Given the description of an element on the screen output the (x, y) to click on. 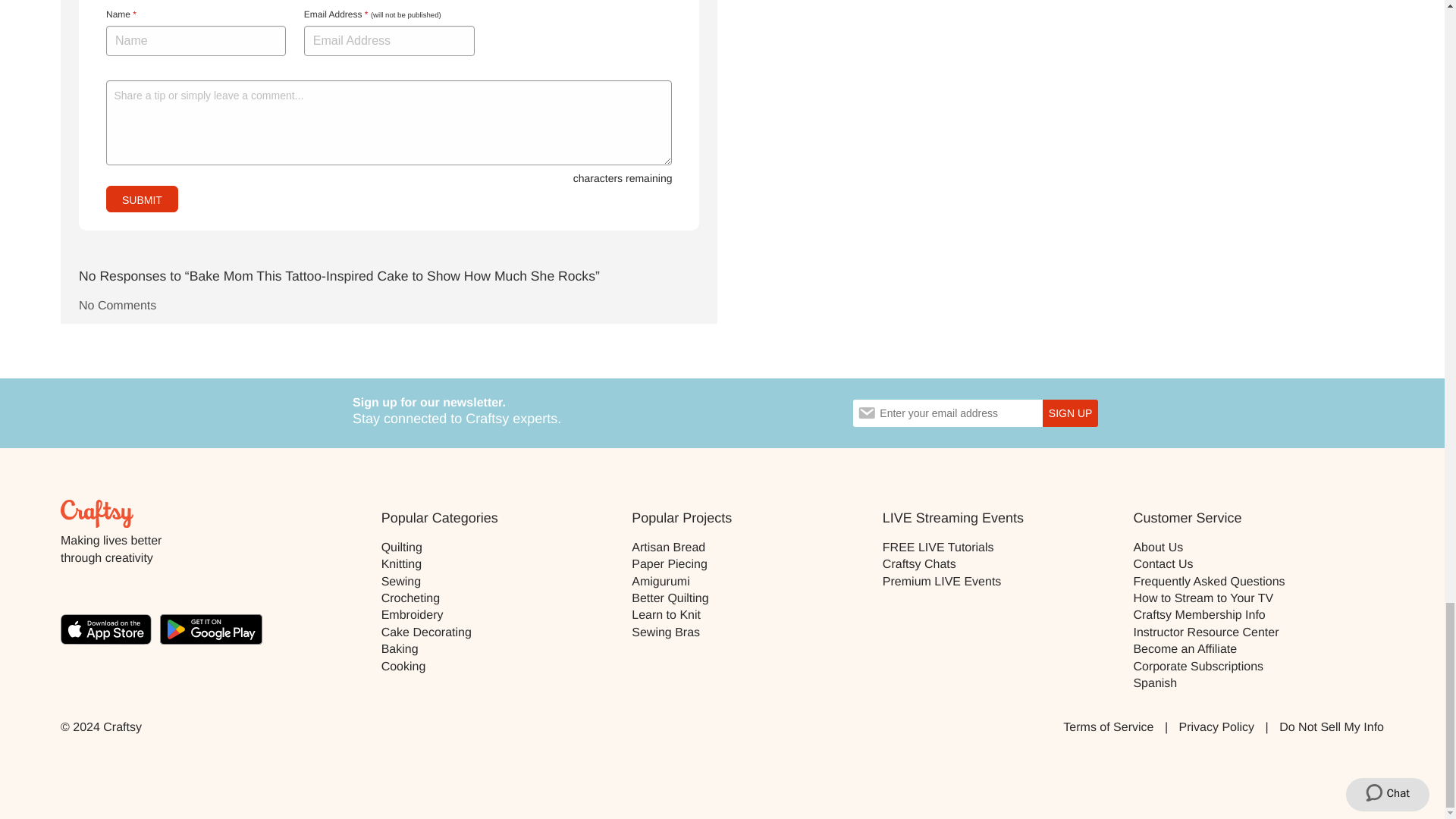
Sign Up (1069, 412)
Submit (141, 198)
Home (97, 513)
Sign Up (1069, 412)
Submit (141, 198)
